Given the description of an element on the screen output the (x, y) to click on. 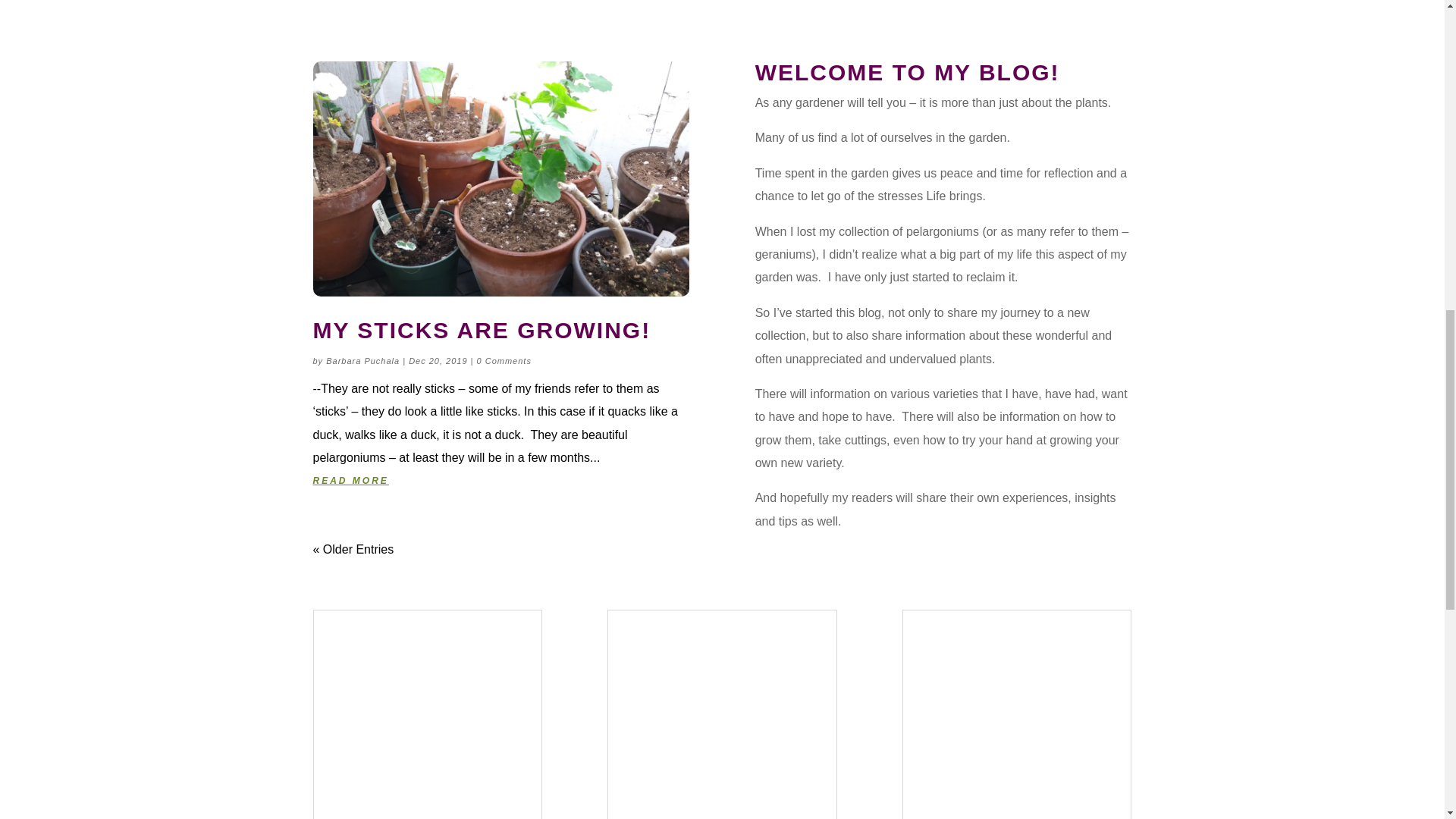
Barbara Puchala (362, 360)
MY STICKS ARE GROWING! (481, 330)
READ MORE (500, 480)
Posts by Barbara Puchala (362, 360)
